Given the description of an element on the screen output the (x, y) to click on. 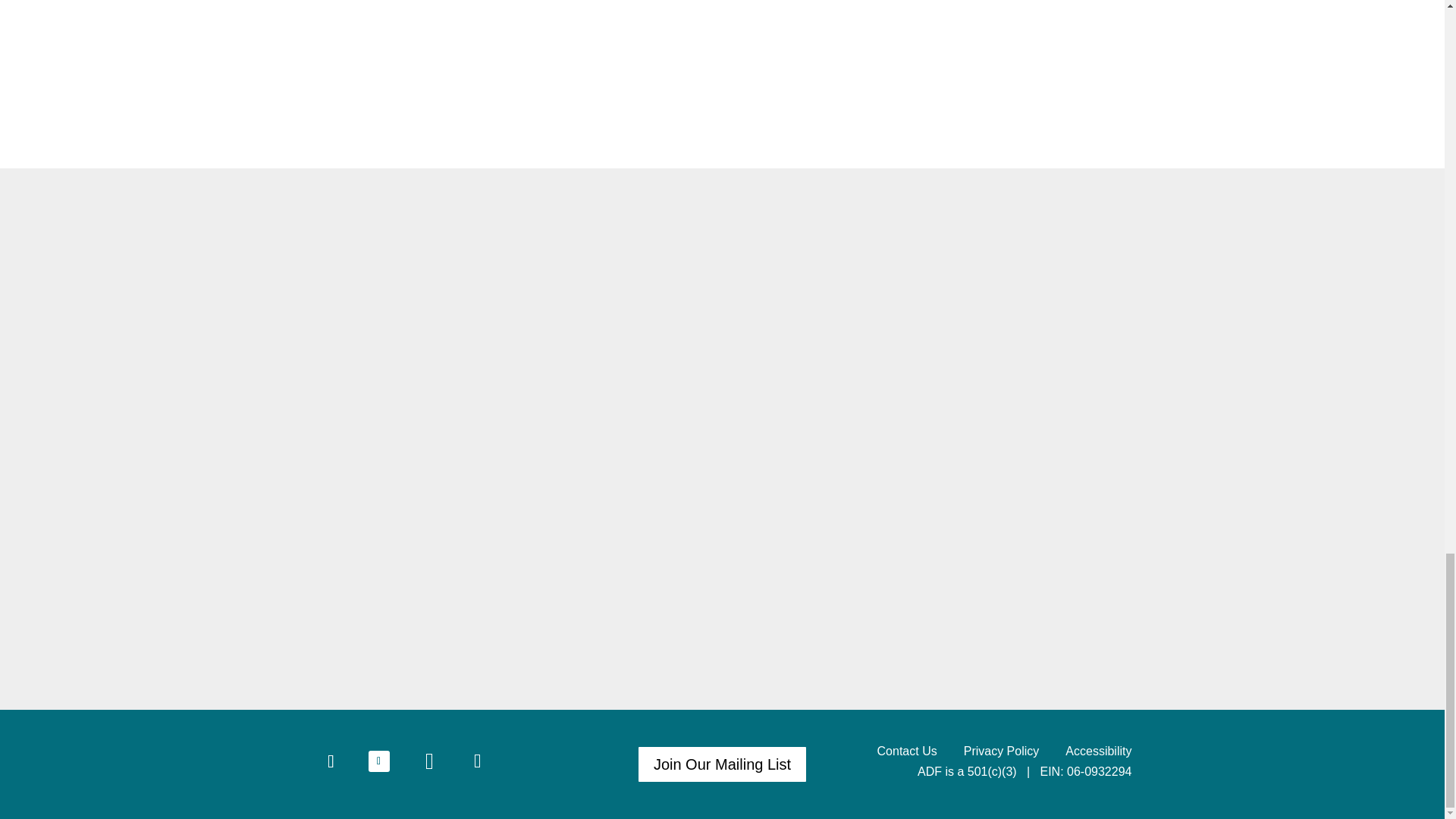
Follow on Instagram (331, 760)
Follow on Youtube (428, 760)
Follow on Facebook (379, 761)
Follow on LinkedIn (477, 761)
